Given the description of an element on the screen output the (x, y) to click on. 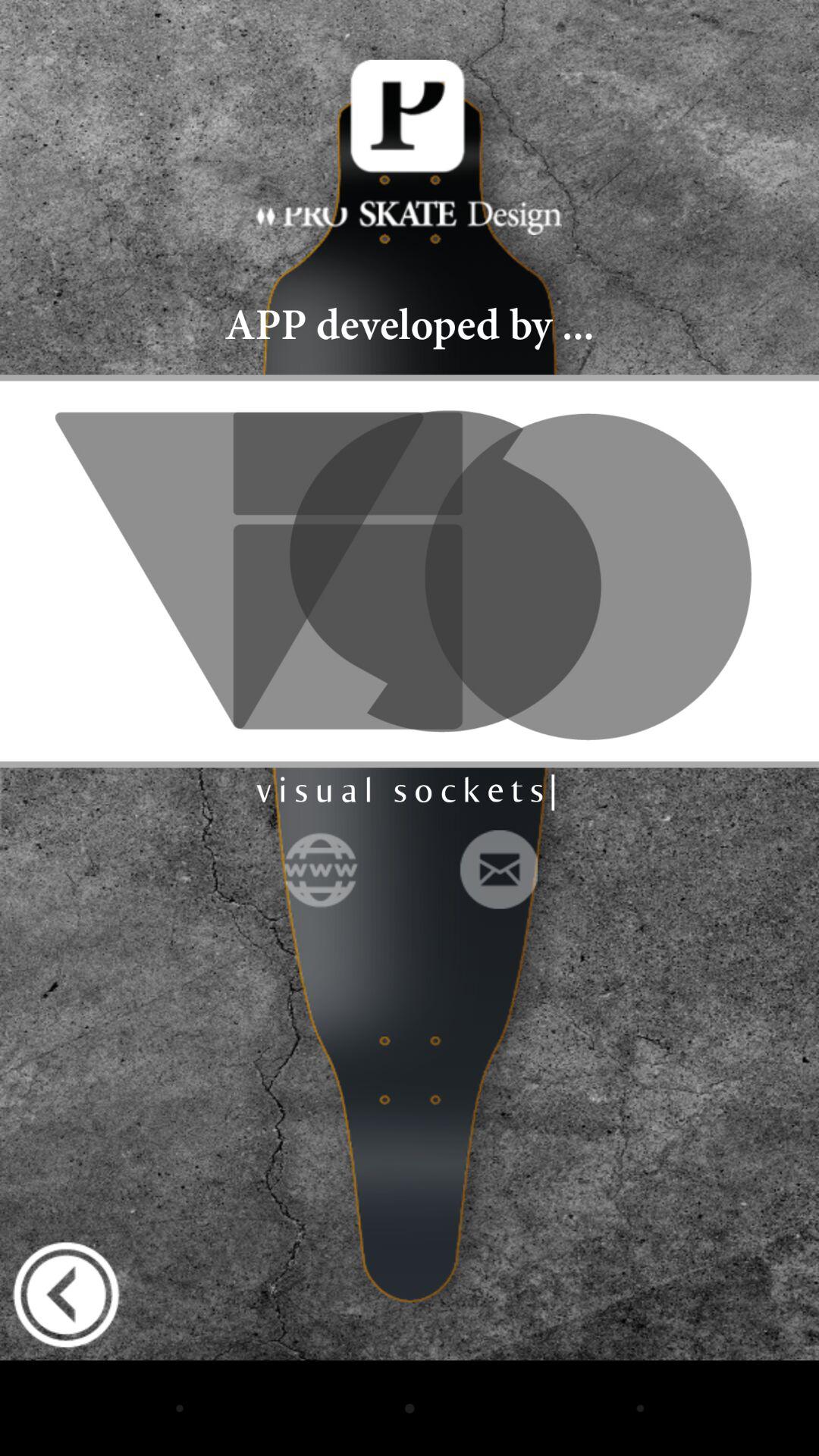
messages (497, 869)
